Given the description of an element on the screen output the (x, y) to click on. 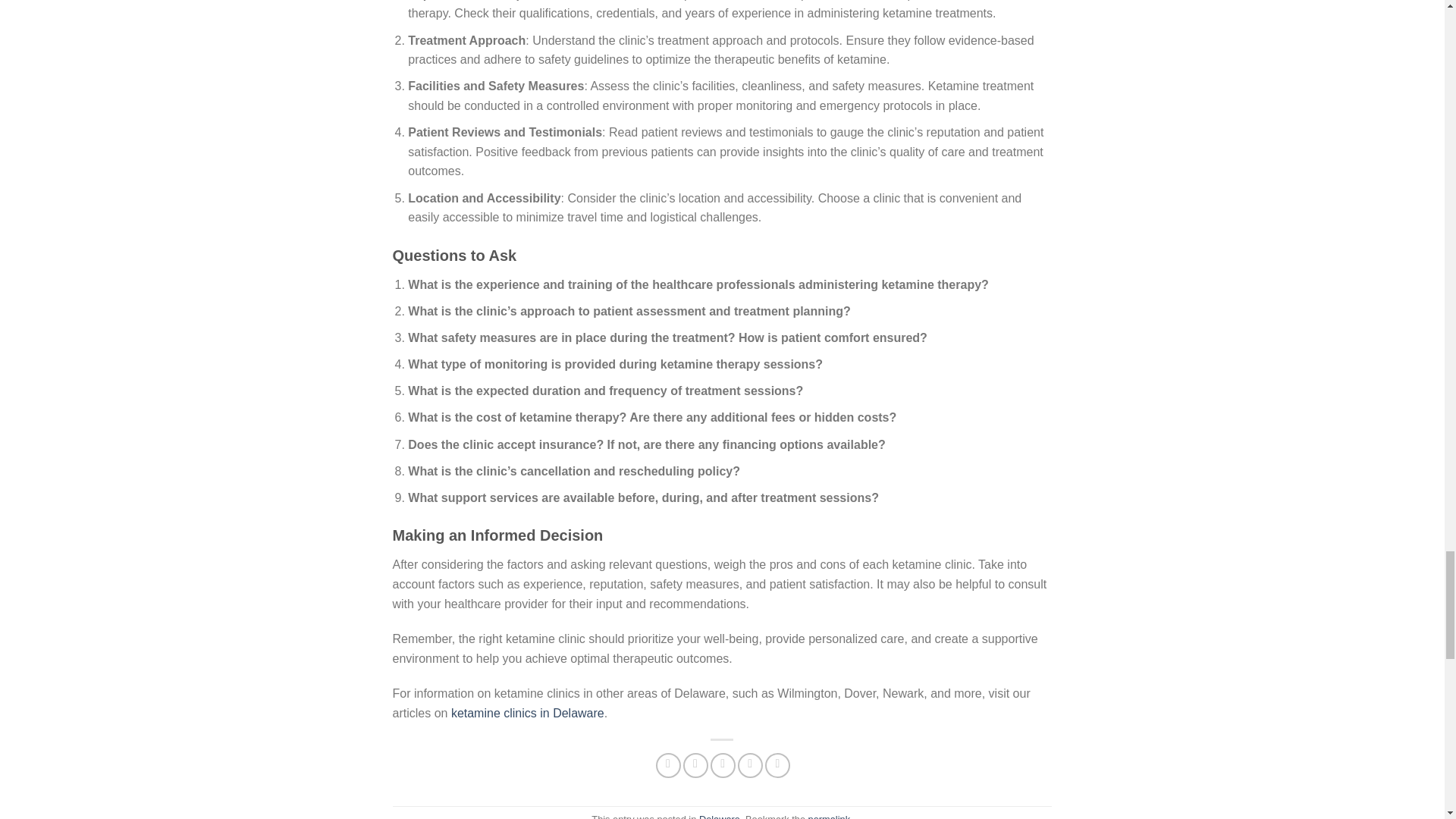
Email to a Friend (722, 765)
Share on Twitter (694, 765)
Pin on Pinterest (750, 765)
Share on Facebook (668, 765)
Share on LinkedIn (777, 765)
